Given the description of an element on the screen output the (x, y) to click on. 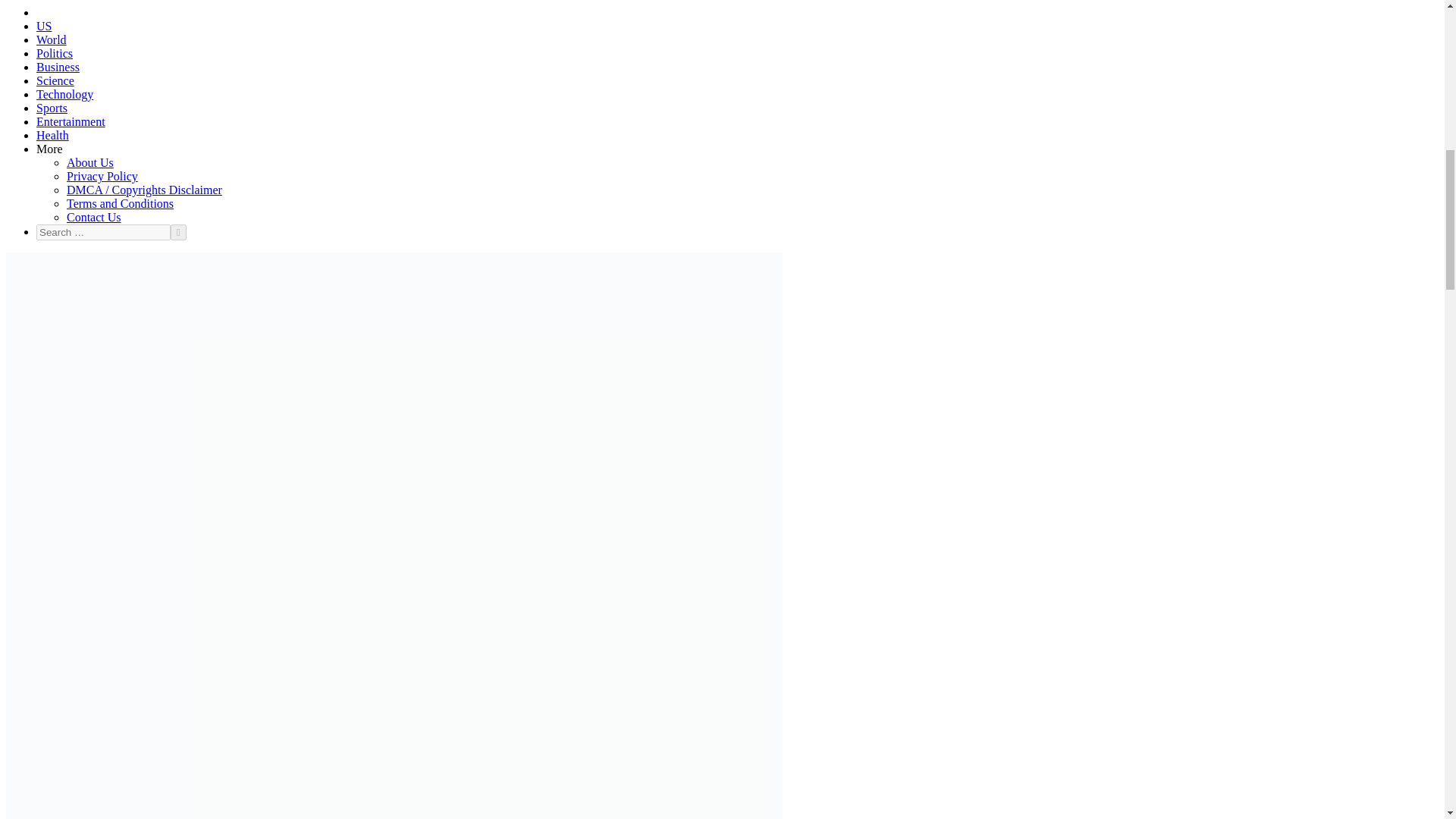
Contact Us (93, 216)
US (43, 25)
Business (58, 66)
Health (52, 134)
World (51, 39)
Entertainment (70, 121)
Politics (54, 52)
Terms and Conditions (119, 203)
About Us (89, 162)
Privacy Policy (102, 175)
Technology (64, 93)
Science (55, 80)
Sports (51, 107)
More (49, 148)
